Given the description of an element on the screen output the (x, y) to click on. 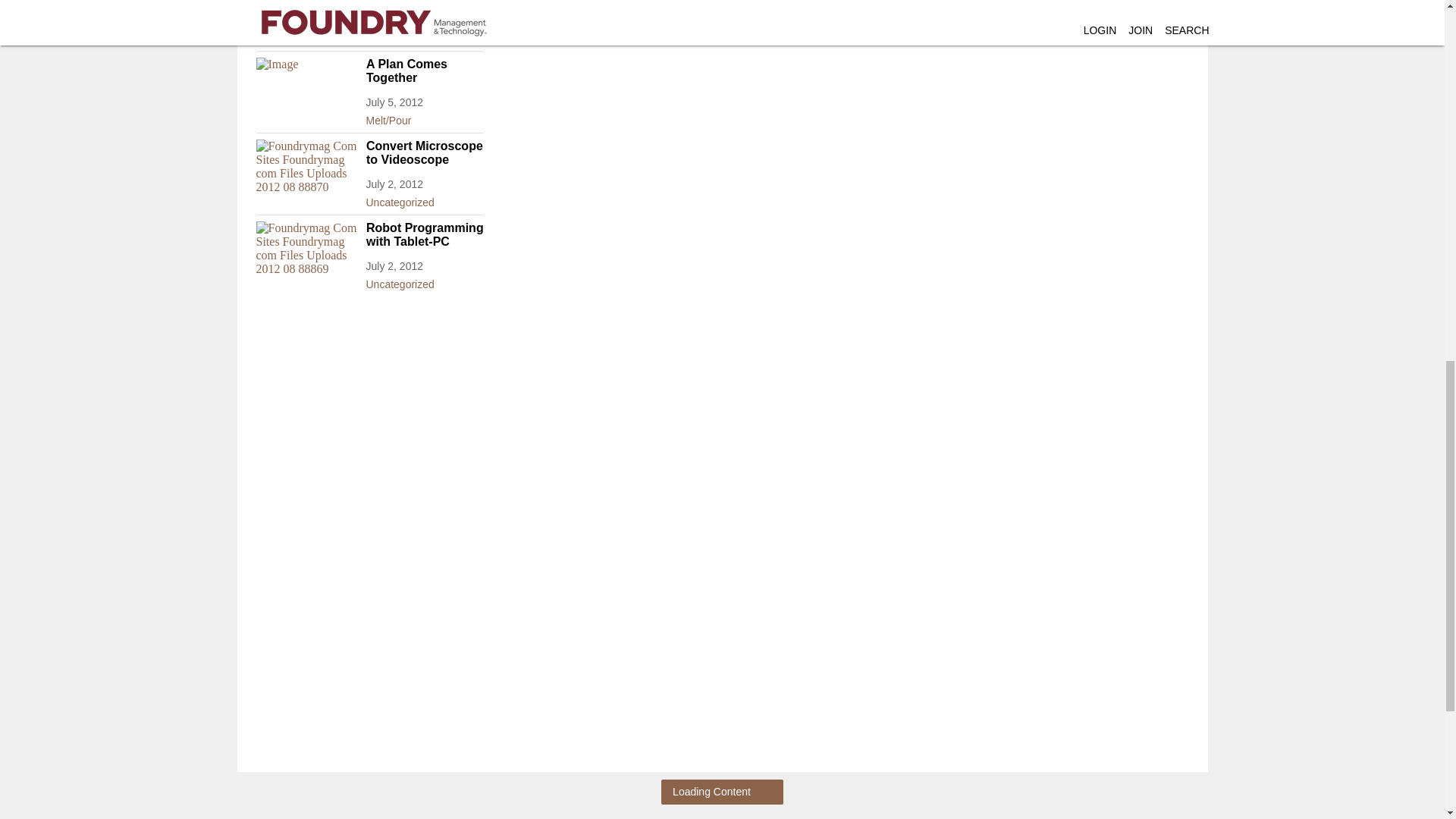
Uncategorized (369, 35)
Vented Safety Helmet (369, 1)
Image (307, 85)
